Given the description of an element on the screen output the (x, y) to click on. 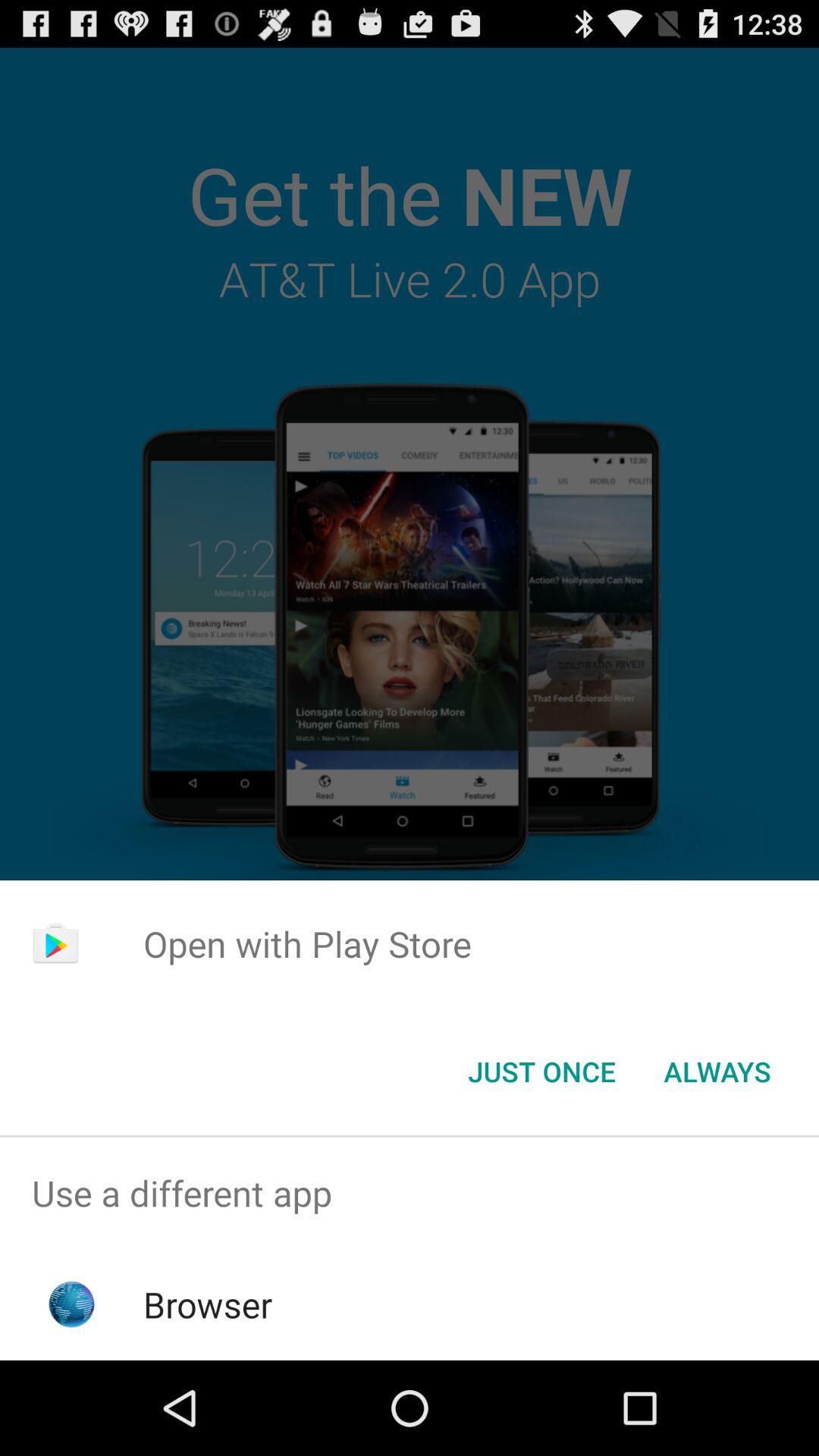
jump until use a different app (409, 1192)
